Given the description of an element on the screen output the (x, y) to click on. 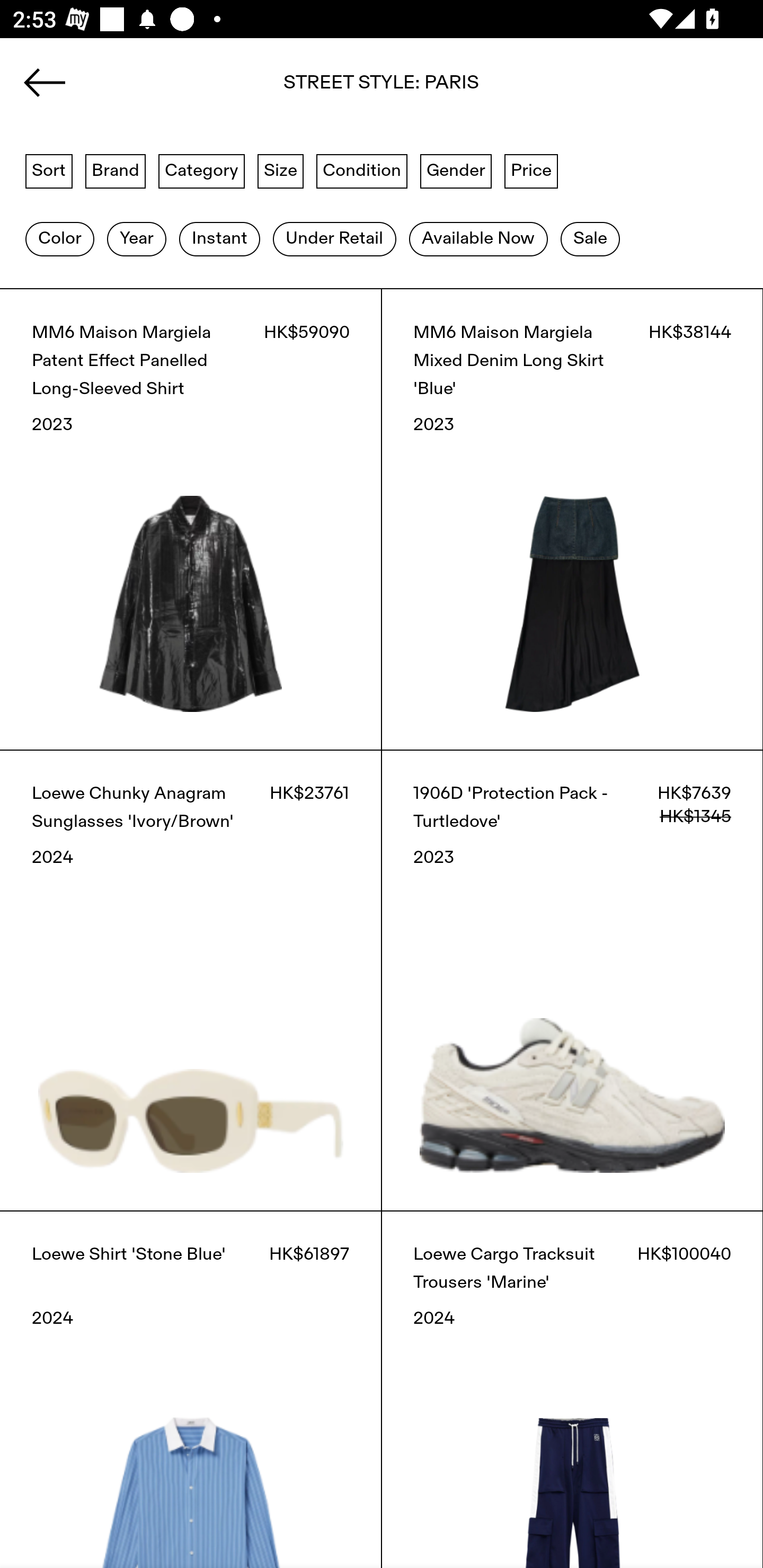
soccer shoes (381, 88)
Sort (48, 170)
Brand (115, 170)
Category (201, 170)
Size (280, 170)
Condition (361, 170)
Gender (455, 170)
Price (530, 170)
Color (59, 239)
Year (136, 239)
Instant (219, 239)
Under Retail (334, 239)
Available Now (477, 239)
Sale (589, 239)
Loewe Shirt 'Stone Blue' HK$61897 2024 (190, 1389)
